Given the description of an element on the screen output the (x, y) to click on. 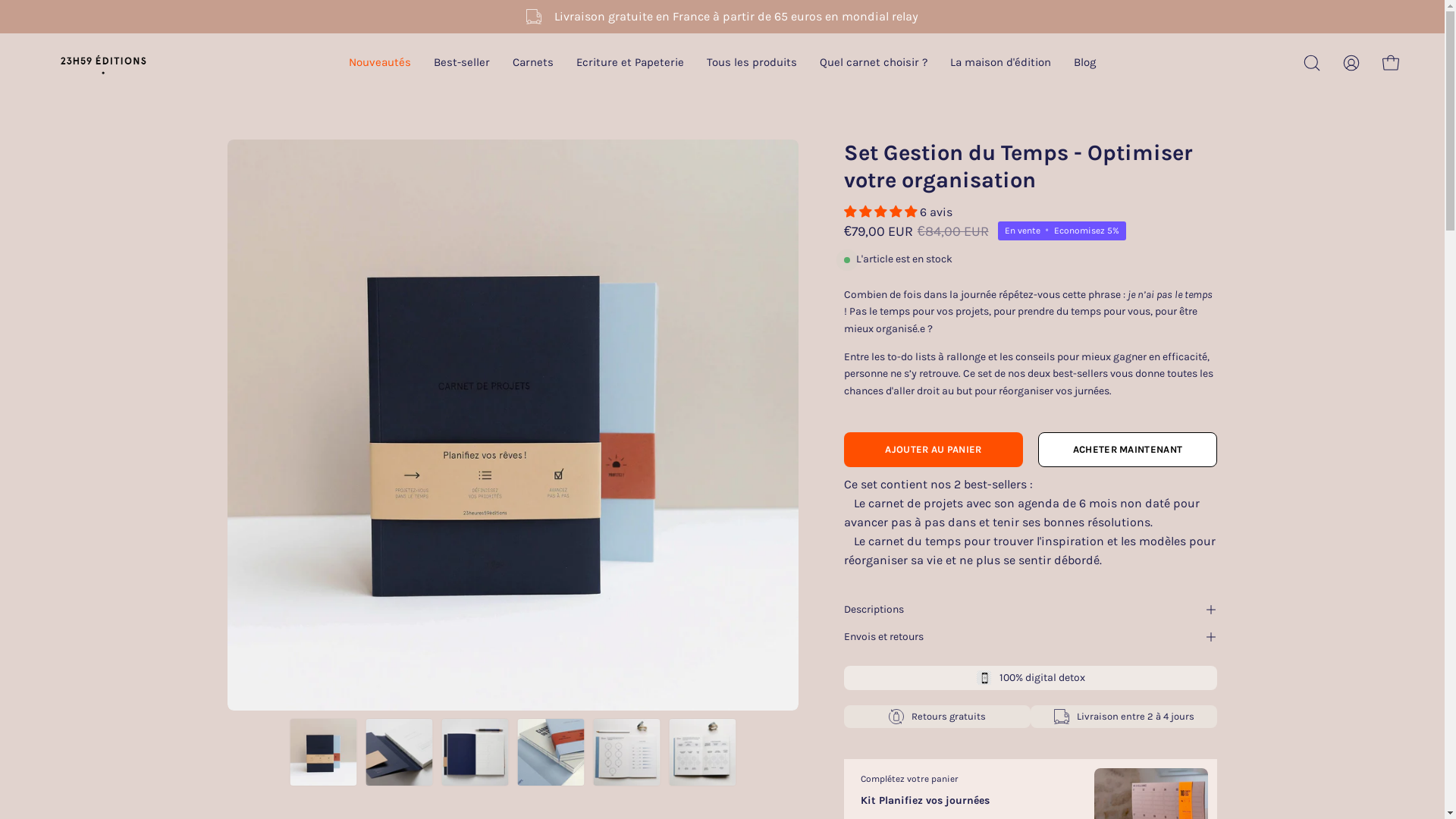
Blog Element type: text (1084, 62)
Mon compte Element type: text (1351, 62)
AJOUTER AU PANIER Element type: text (933, 449)
Zoom sur les images Element type: text (1083, 424)
Zoom sur les images Element type: text (512, 424)
ACHETER MAINTENANT Element type: text (1127, 449)
Tous les produits Element type: text (751, 62)
Ouvrir le panier Element type: text (1390, 62)
Ecriture et Papeterie Element type: text (629, 62)
Carnets Element type: text (532, 62)
Quel carnet choisir ? Element type: text (873, 62)
Descriptions Element type: text (1030, 609)
Best-seller Element type: text (461, 62)
Envois et retours Element type: text (1030, 636)
